Given the description of an element on the screen output the (x, y) to click on. 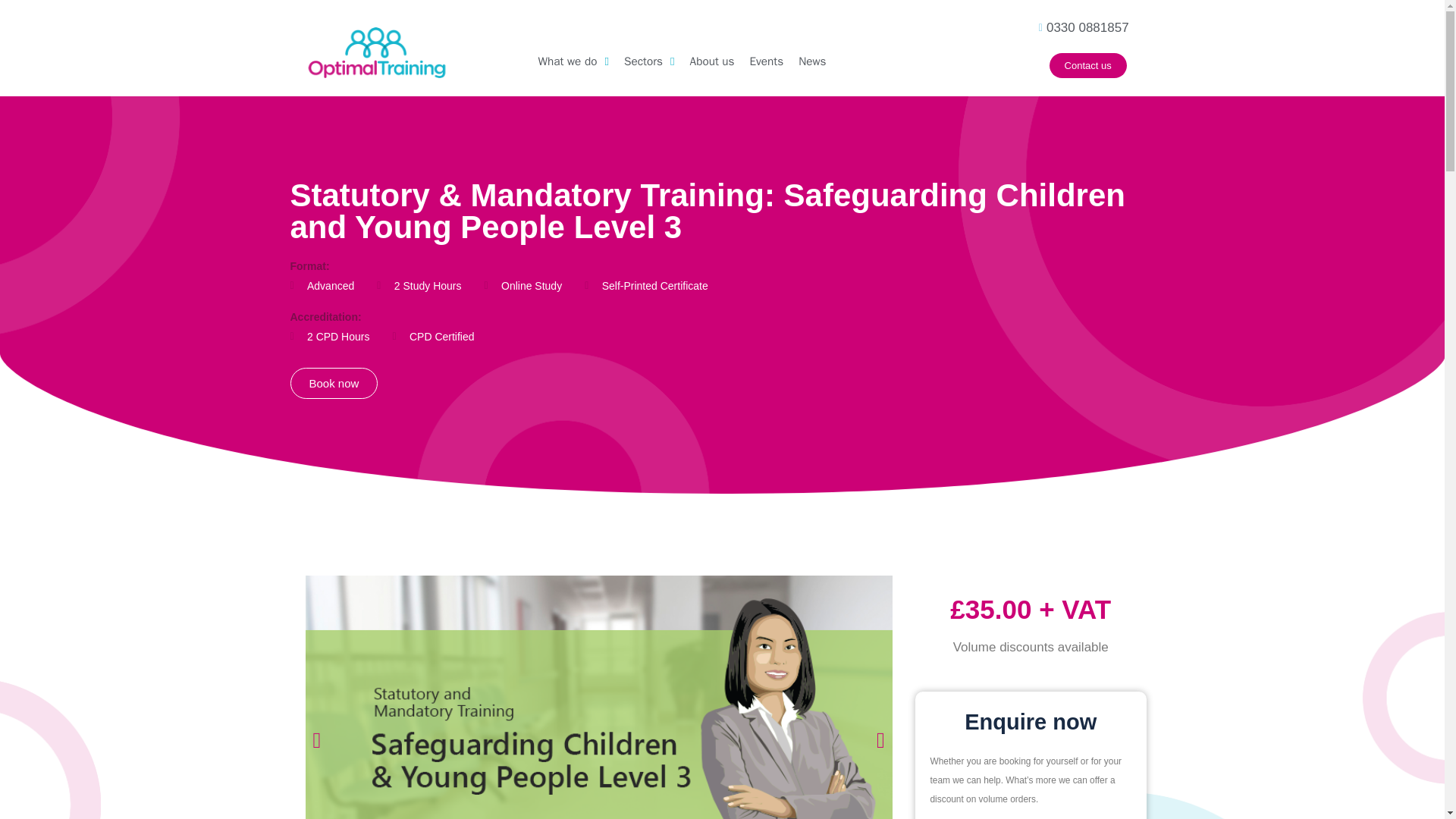
News (811, 65)
Book now (333, 382)
Events (767, 65)
About us (712, 65)
What we do (572, 65)
0330 0881857 (1018, 27)
Contact us (1087, 65)
Sectors (648, 65)
